Given the description of an element on the screen output the (x, y) to click on. 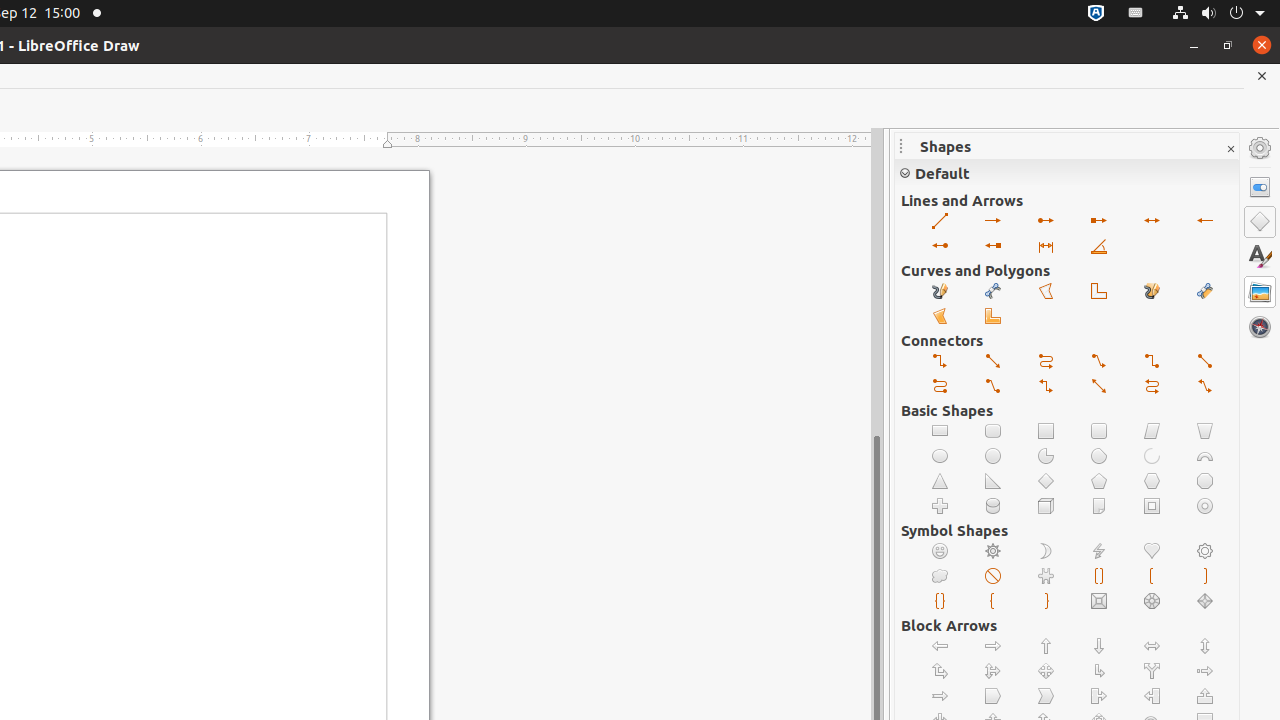
Line with Square/Arrow Element type: list-item (1099, 221)
Connector Element type: list-item (1152, 361)
Ellipse Element type: list-item (940, 456)
Diamond Element type: list-item (1046, 481)
Corner Right Arrow Element type: list-item (1099, 671)
